Given the description of an element on the screen output the (x, y) to click on. 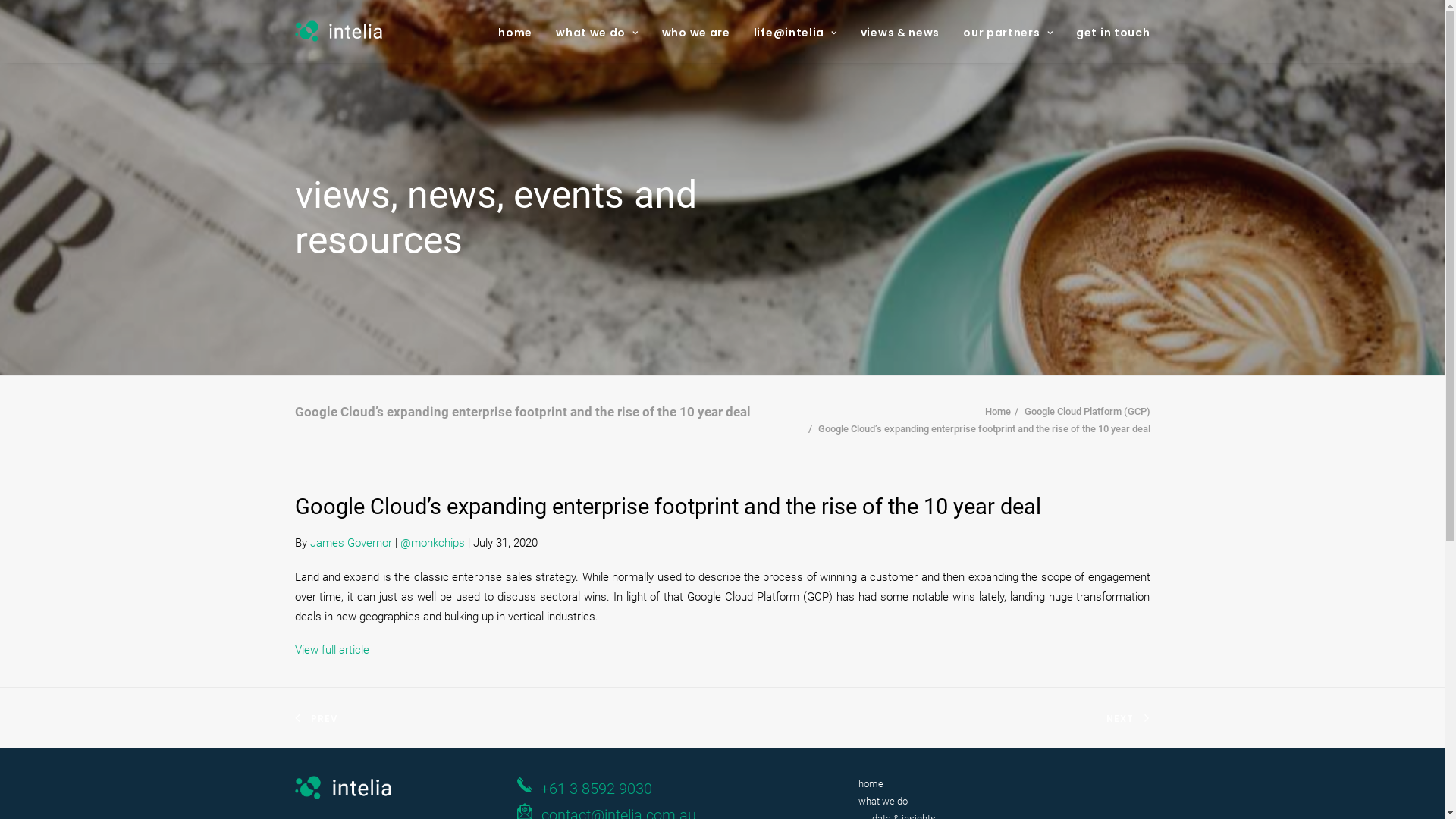
what we do Element type: text (597, 31)
life@intelia Element type: text (795, 31)
home Element type: text (520, 31)
our partners Element type: text (1007, 31)
James Governor Element type: text (350, 542)
Google Cloud Platform (GCP) Element type: text (1086, 411)
NEXT Element type: text (1120, 718)
View full article Element type: text (331, 649)
PREV Element type: text (324, 718)
@monkchips Element type: text (432, 542)
get in touch Element type: text (1107, 31)
views & news Element type: text (900, 31)
home Element type: text (870, 783)
what we do Element type: text (882, 800)
Home Element type: text (997, 411)
who we are Element type: text (695, 31)
